Given the description of an element on the screen output the (x, y) to click on. 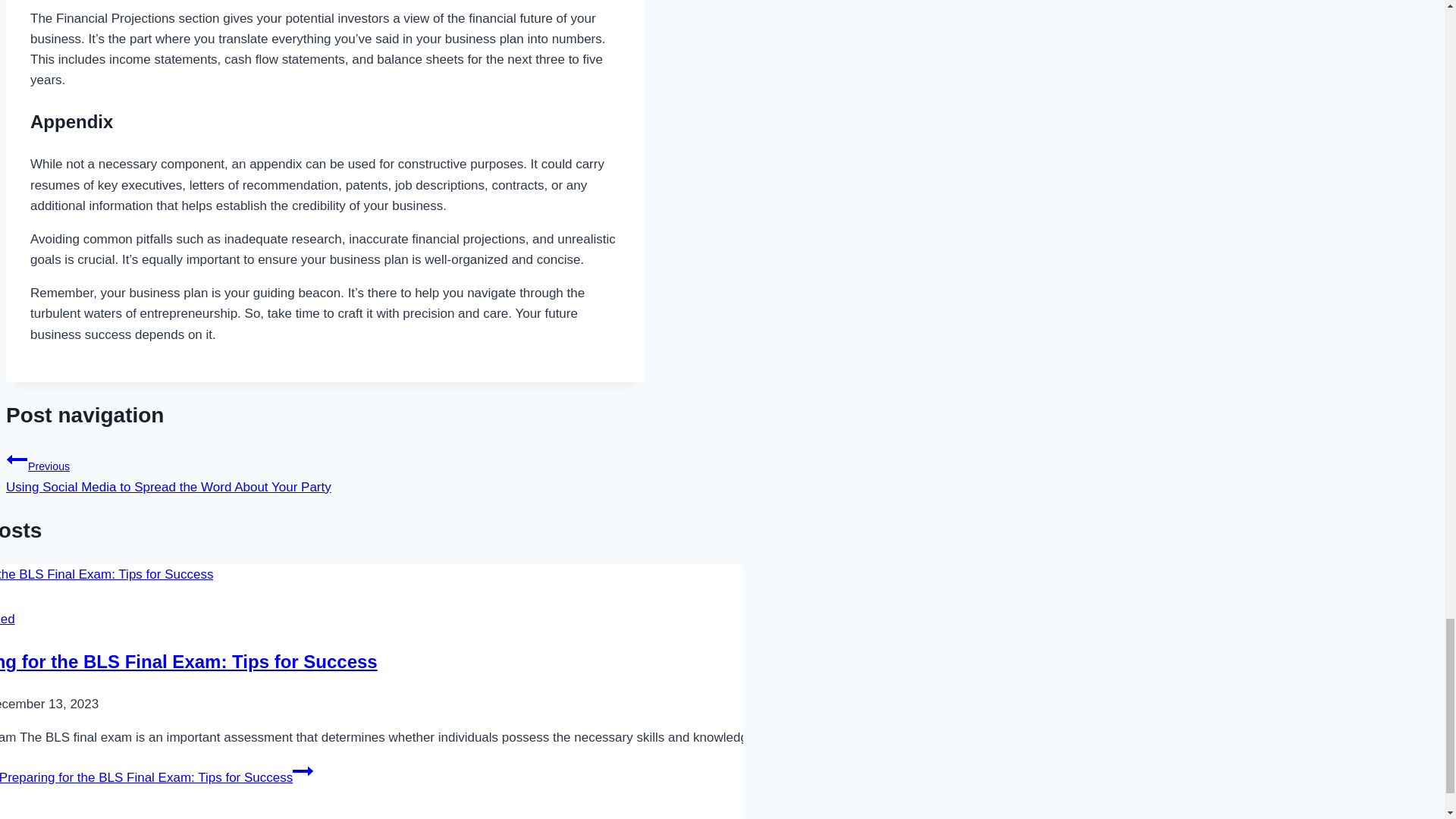
Uncategorized (7, 618)
Preparing for the BLS Final Exam: Tips for Success (188, 661)
Previous (16, 459)
Read More Preparing for the BLS Final Exam: Tips for Success (156, 777)
